Given the description of an element on the screen output the (x, y) to click on. 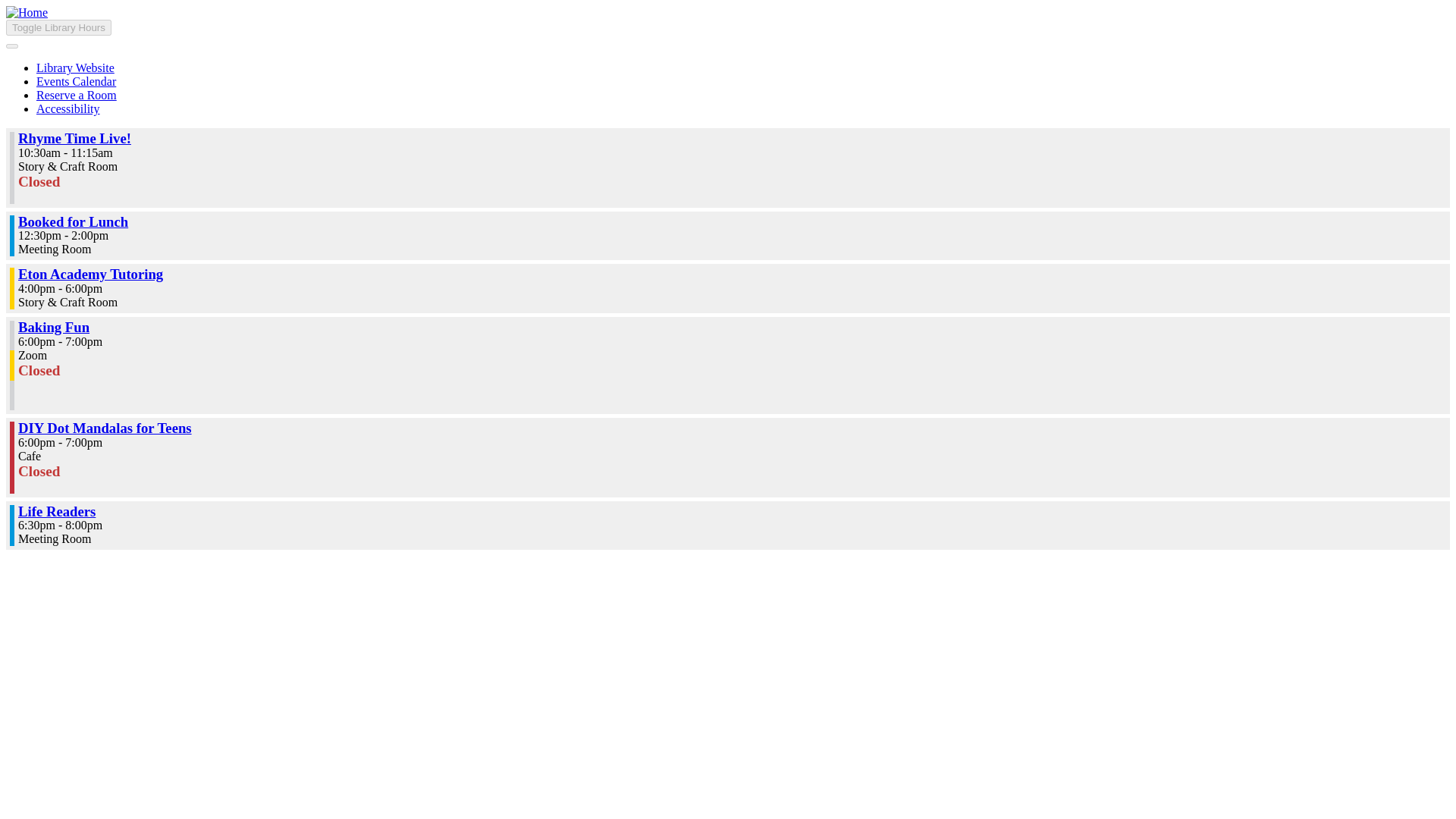
Booked for Lunch (72, 221)
Events Calendar (76, 81)
DIY Dot Mandalas for Teens (104, 427)
Life Readers (56, 511)
Home (26, 11)
Library Website (75, 67)
Eton Academy Tutoring (90, 273)
Reserve a Room (76, 94)
Toggle Navigation (11, 46)
Toggle Library Hours (58, 27)
Rhyme Time Live! (74, 138)
Baking Fun (52, 326)
Accessibility (68, 108)
